Given the description of an element on the screen output the (x, y) to click on. 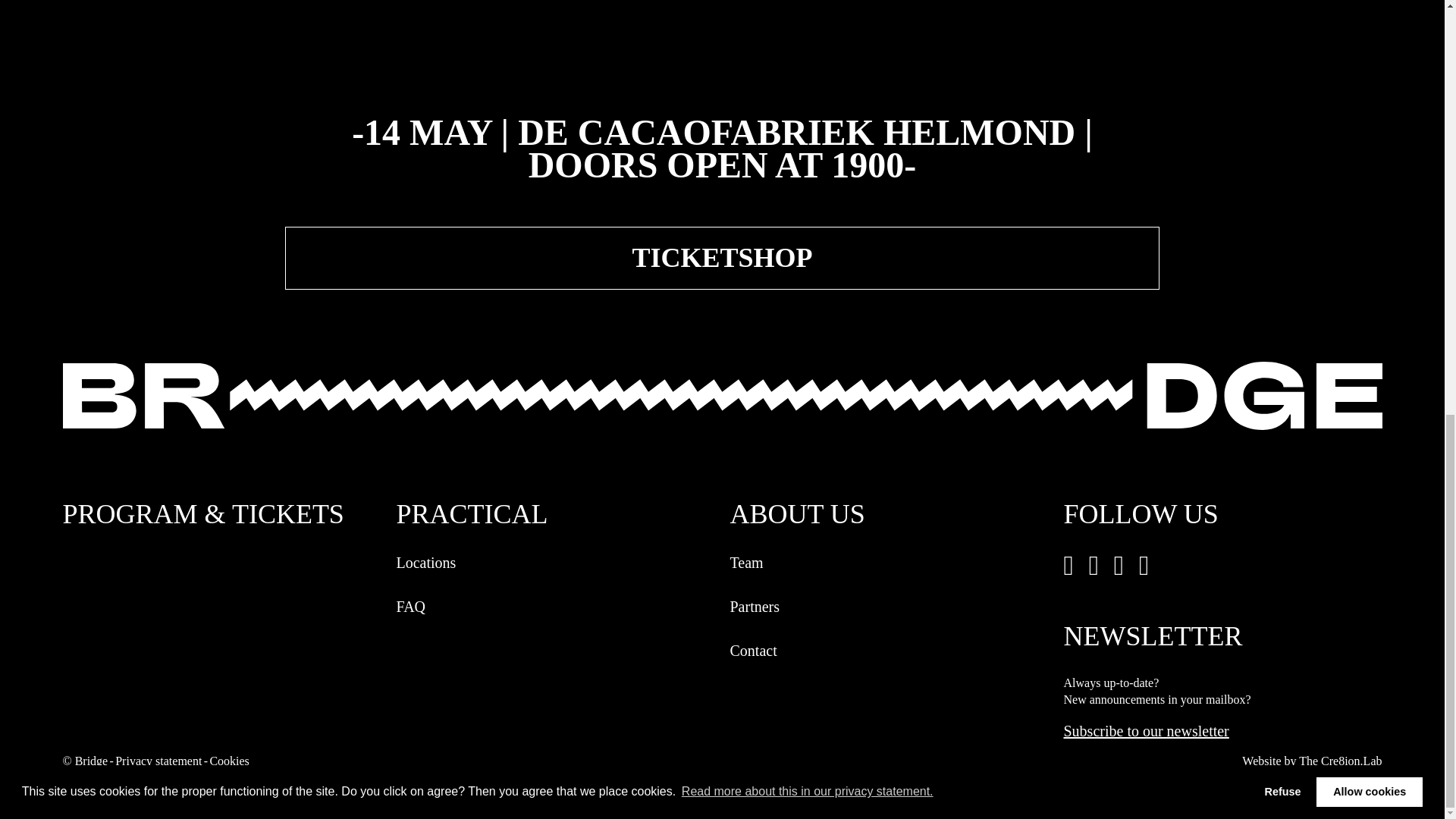
Cookies (228, 760)
Subscribe to our newsletter (1145, 731)
Team (888, 562)
Contact (888, 650)
PRACTICAL (555, 517)
Partners (888, 606)
FAQ (555, 606)
ABOUT US (888, 517)
TICKETSHOP (721, 257)
Locations (555, 562)
Privacy statement (158, 760)
